Given the description of an element on the screen output the (x, y) to click on. 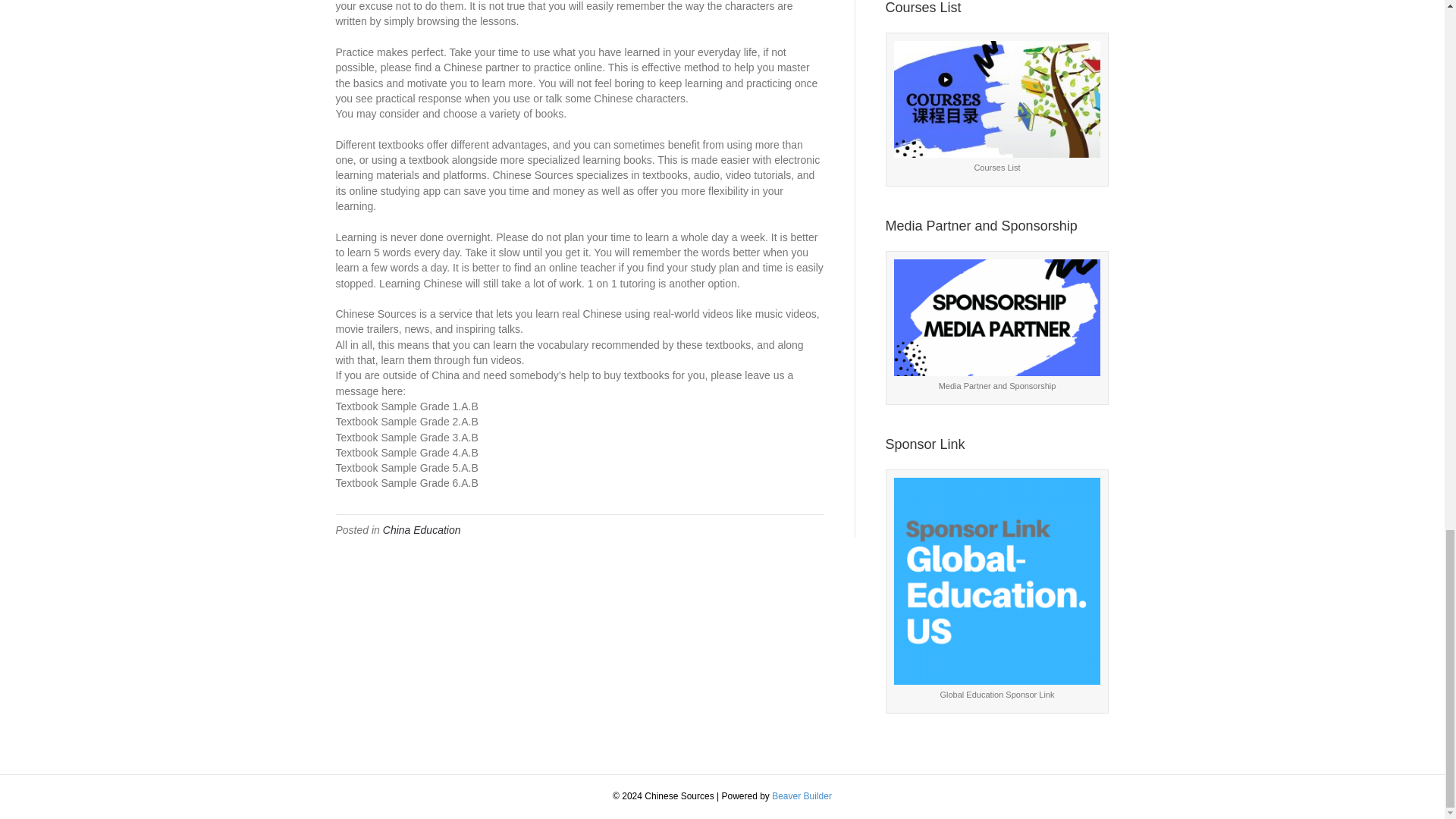
WordPress Page Builder Plugin (801, 796)
Courses List (996, 99)
China Education (421, 530)
Beaver Builder (801, 796)
Sponsor Link (996, 580)
